Given the description of an element on the screen output the (x, y) to click on. 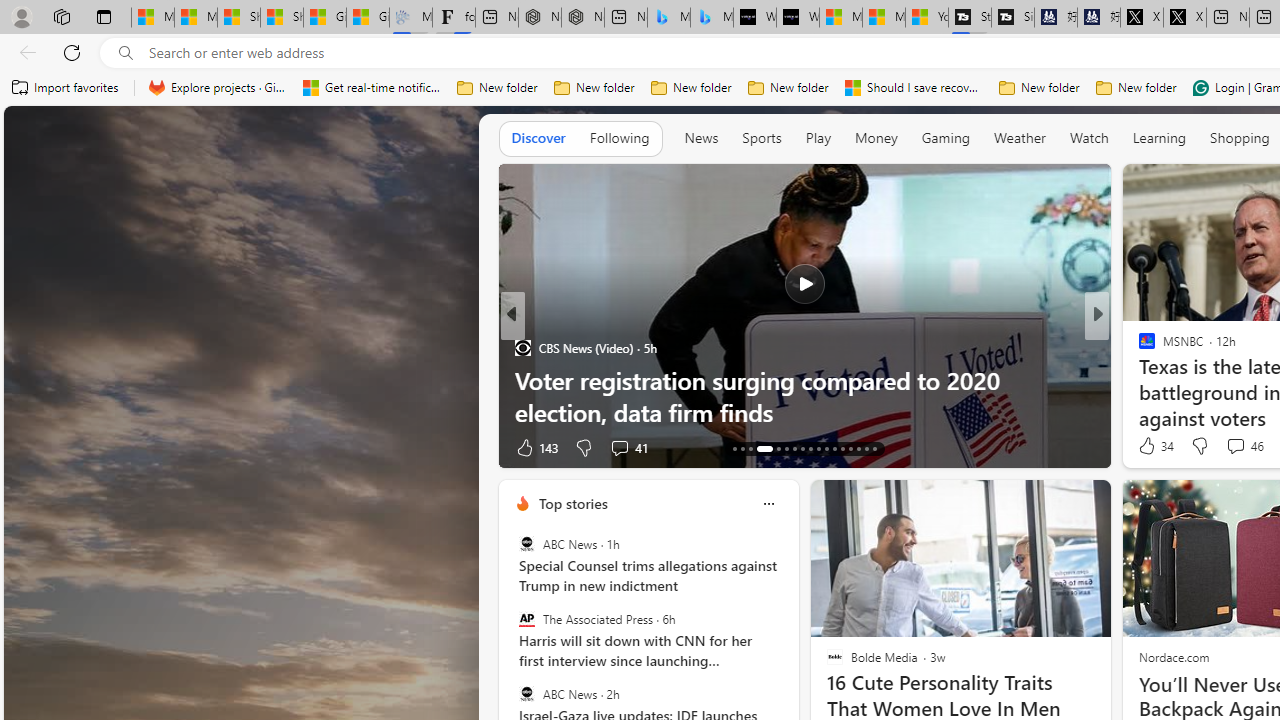
AutomationID: tab-21 (810, 448)
AutomationID: tab-41 (865, 448)
Learning (1159, 137)
AutomationID: tab-25 (842, 448)
AutomationID: tab-39 (850, 448)
View comments 6 Comment (1234, 447)
Washington Examiner (1138, 347)
Play (818, 138)
94 Like (1149, 447)
